Given the description of an element on the screen output the (x, y) to click on. 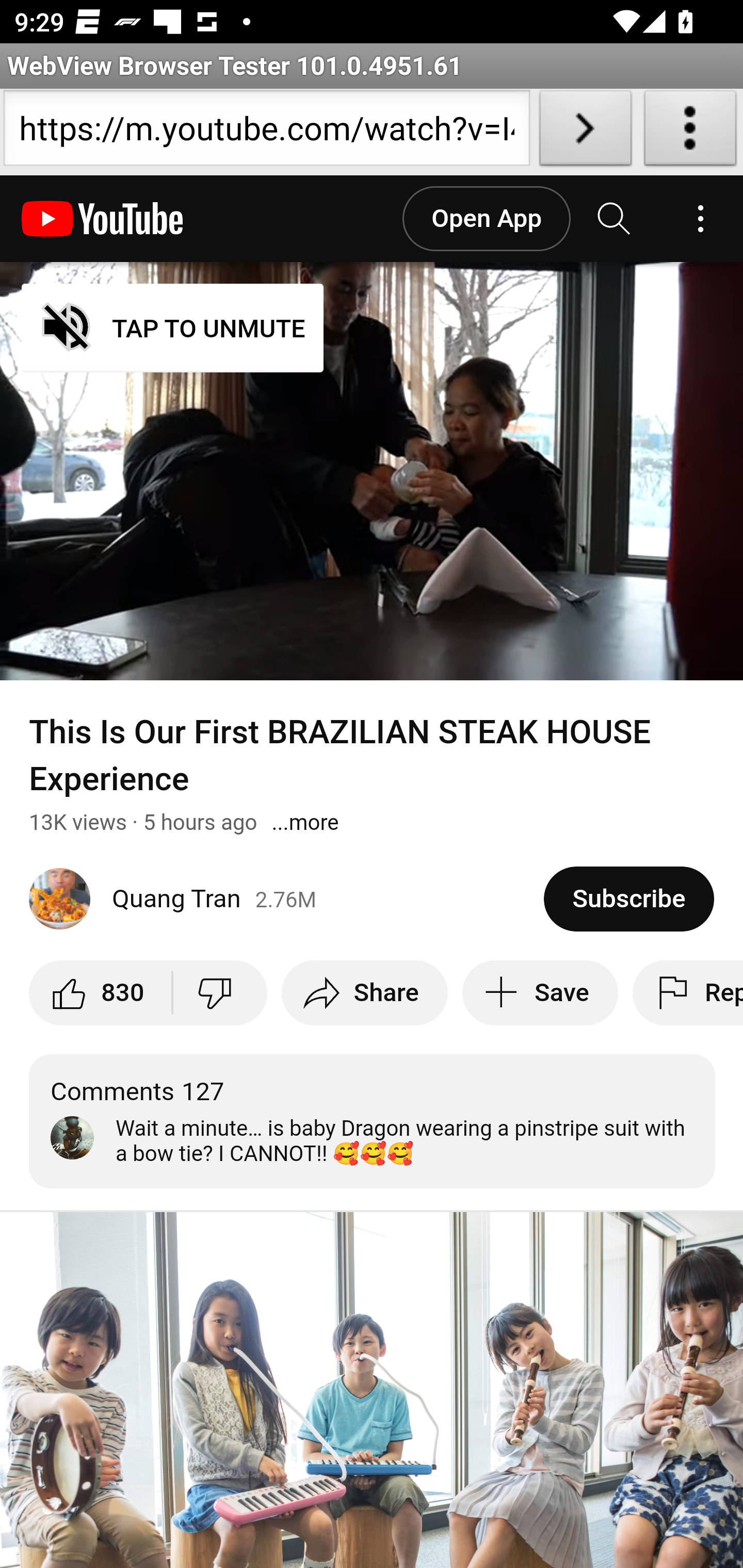
https://m.youtube.com/watch?v=I4r23Uogu7k (266, 132)
Load URL (585, 132)
About WebView (690, 132)
YouTube (102, 219)
Search YouTube (614, 219)
Account (700, 219)
Open App (485, 218)
YouTube Video Player TAP TO UNMUTE (371, 470)
TAP TO UNMUTE (173, 328)
Show more (305, 822)
Subscribe to Quang Tran. (627, 898)
Quang Tran (286, 899)
like this video along with 830 other people (101, 992)
Dislike this video (219, 992)
Share (364, 992)
Save to playlist (538, 992)
Report (687, 992)
Comments (372, 1121)
